Given the description of an element on the screen output the (x, y) to click on. 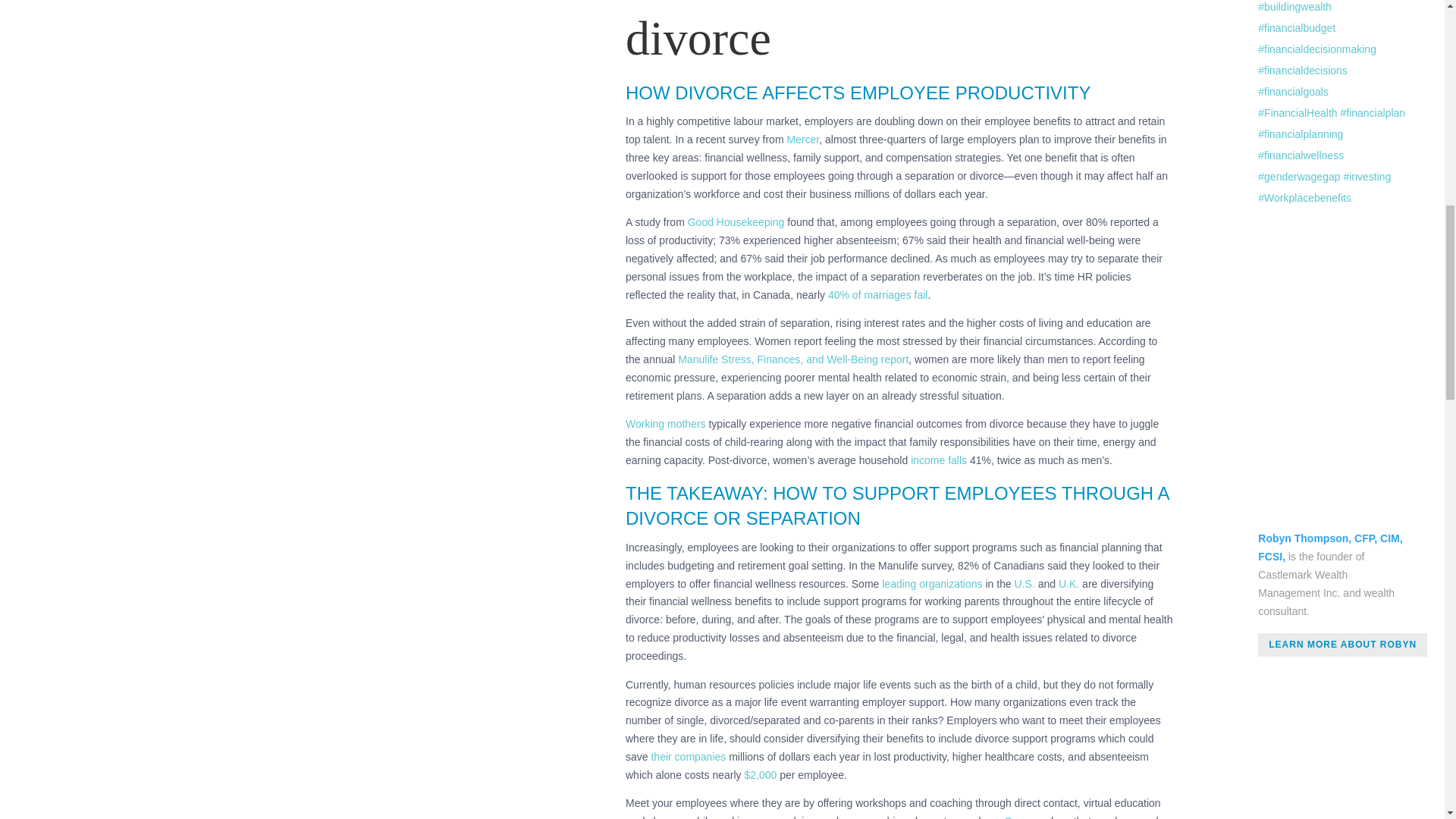
leading organizations (931, 583)
U.K. (1068, 583)
U.S. (1024, 583)
income falls (940, 460)
U.S. (1024, 583)
their companies (689, 756)
Good Housekeeping (735, 222)
Working mothers (666, 423)
Manulife Stress, Finances, and Well-Being report (793, 358)
Manulife Stress, Finances, and Well-Being report (793, 358)
Working mothers (666, 423)
Mercer (802, 139)
